Given the description of an element on the screen output the (x, y) to click on. 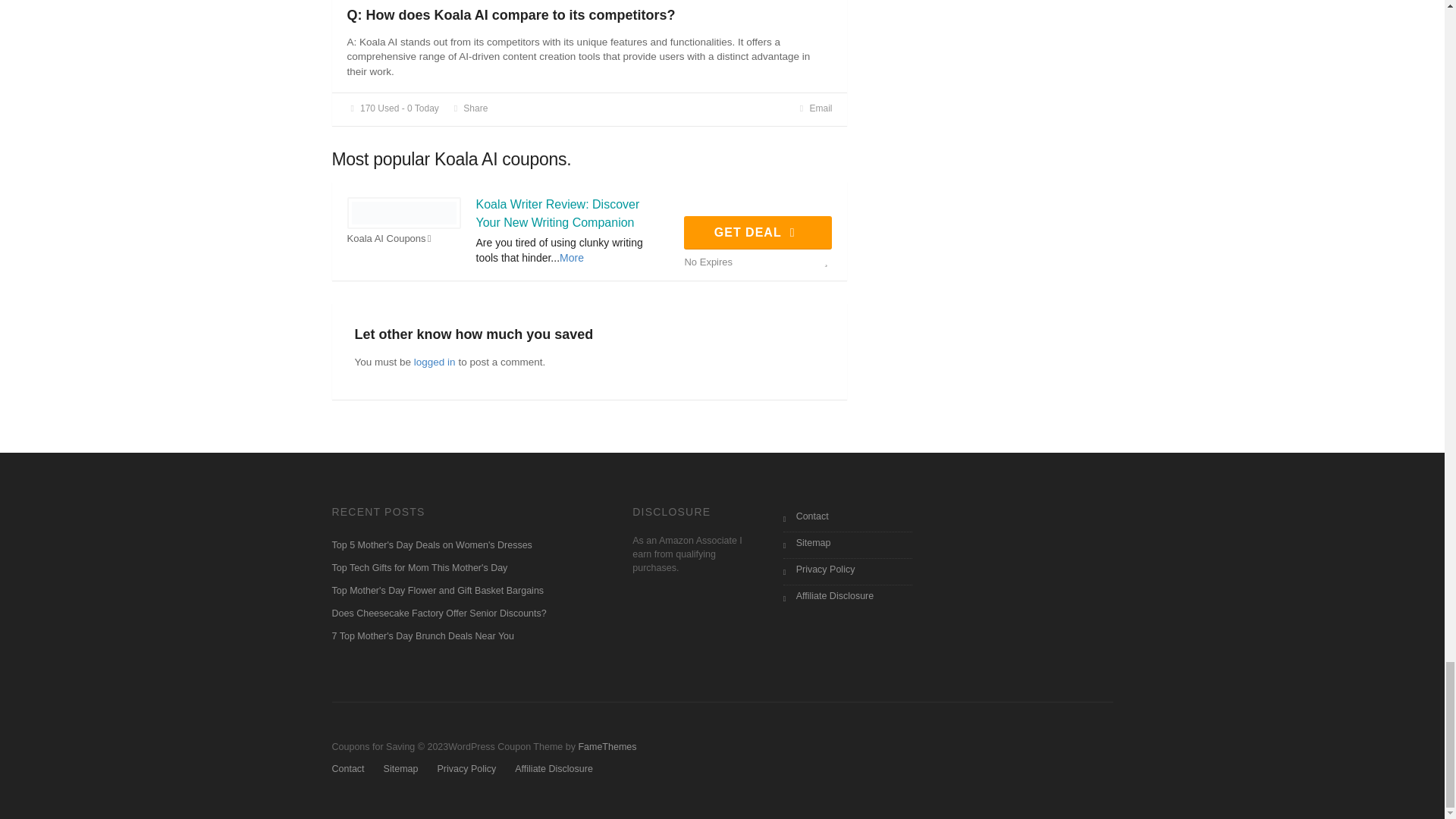
Send this coupon to an email (814, 108)
GET DEAL (757, 232)
More (571, 256)
Email (814, 108)
Koala AI Coupons (392, 238)
Koala Writer Review: Discover Your New Writing Companion (558, 213)
Share it with your friend (468, 108)
Koala AI Coupon Code (404, 212)
Koala Writer Review: Discover Your New Writing Companion (558, 213)
Share (468, 108)
